Given the description of an element on the screen output the (x, y) to click on. 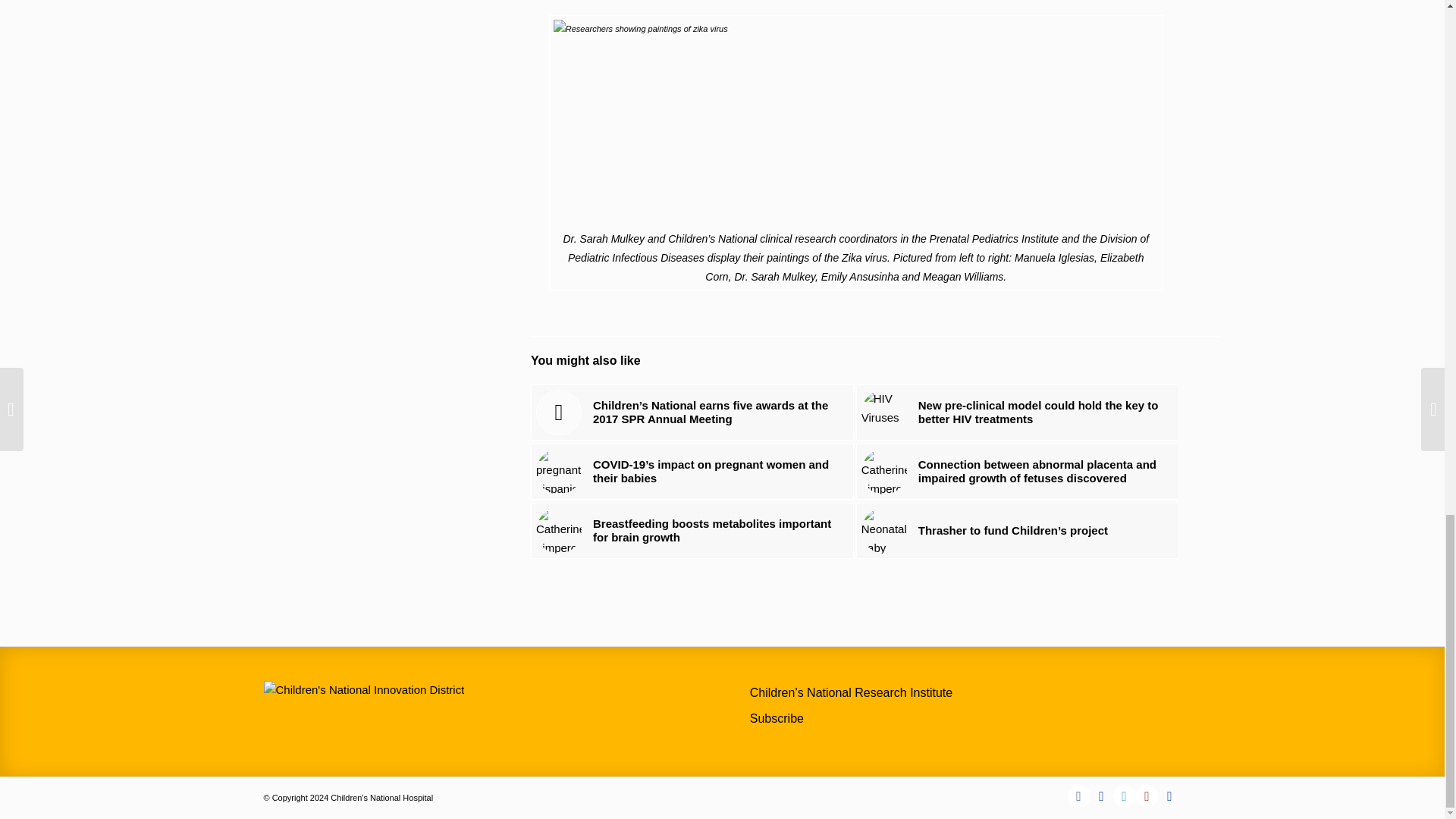
pregnant-hispanic-woman (557, 471)
HIV (884, 411)
